Given the description of an element on the screen output the (x, y) to click on. 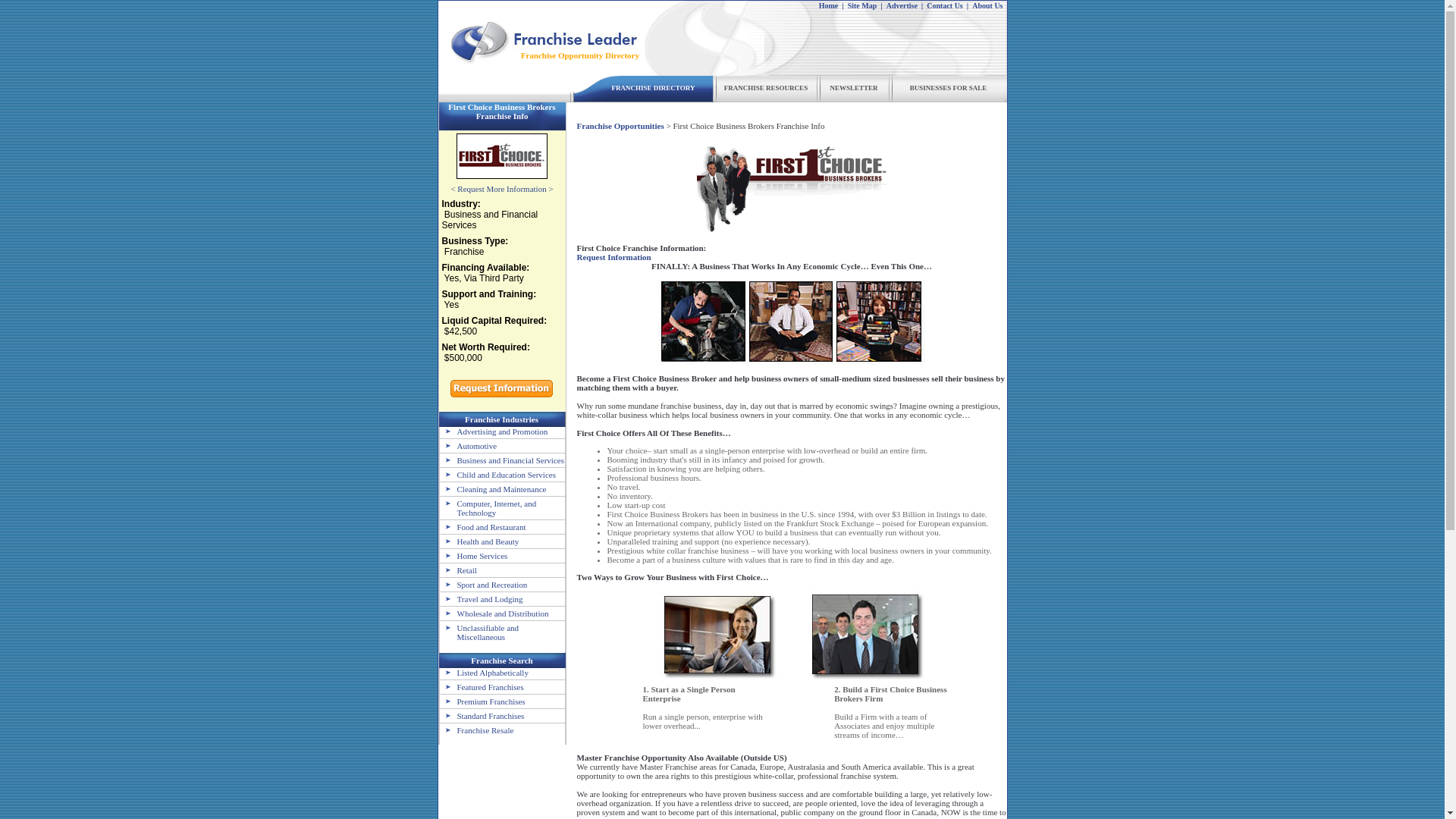
Contact Us (944, 5)
Featured Franchises (481, 686)
Premium Franchises (482, 700)
Child and Education Services (497, 474)
About Us (987, 5)
Franchise Resale (476, 729)
Business and Financial Services (501, 460)
Request Information (613, 256)
FRANCHISE RESOURCES (765, 87)
Unclassifiable and Miscellaneous (479, 632)
NEWSLETTER (853, 87)
Franchise Opportunities (619, 125)
BUSINESSES FOR SALE (948, 87)
Food and Restaurant (482, 526)
Travel and Lodging (480, 598)
